Given the description of an element on the screen output the (x, y) to click on. 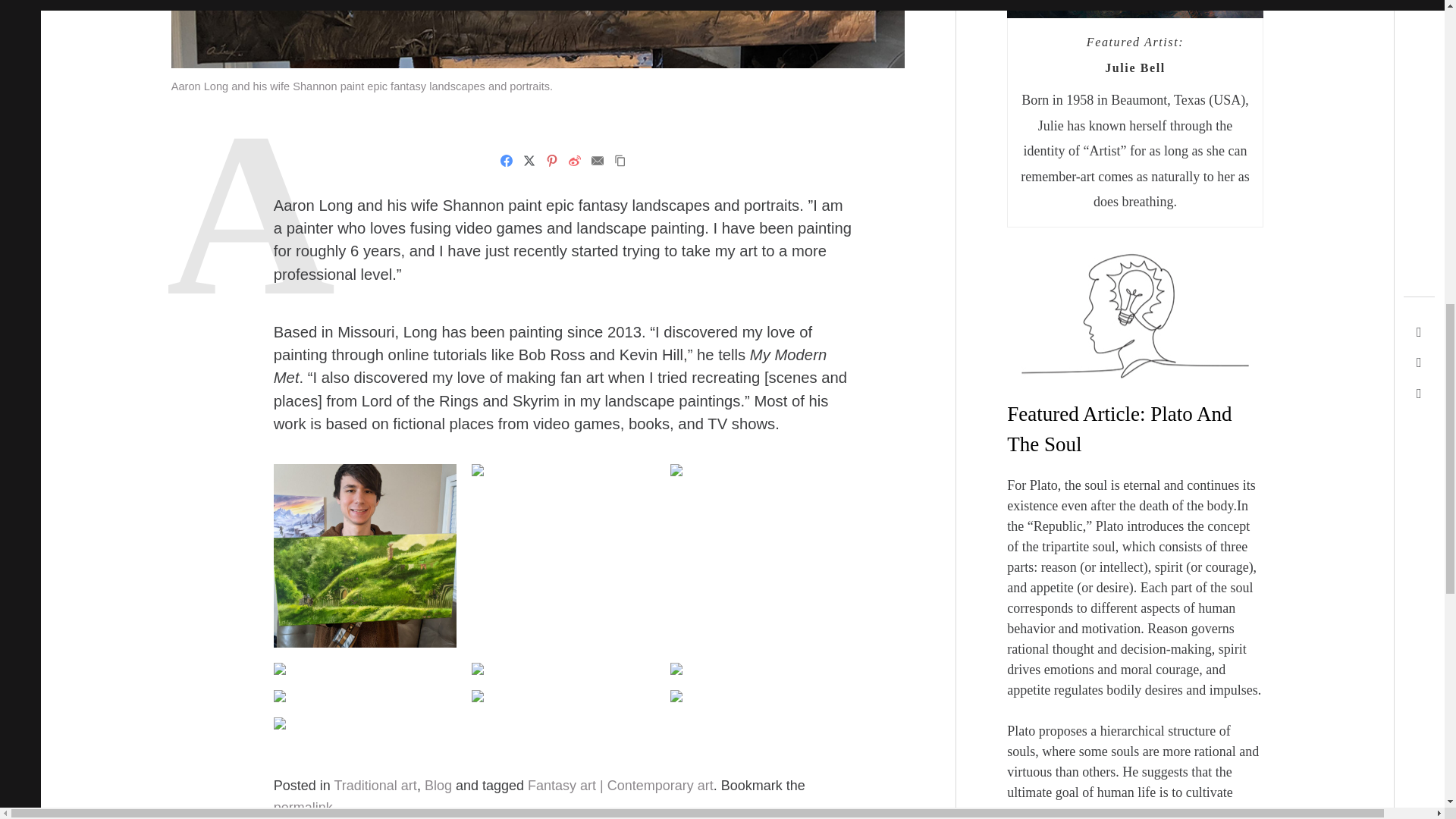
Julie Bell (1135, 67)
Share on Copy Link (619, 160)
Plato And The Soul (1119, 429)
Share on Facebook (506, 160)
Share on Email (597, 160)
Share on Twitter (529, 160)
Share on Weibo (574, 160)
Share on Pinterest (551, 160)
